Given the description of an element on the screen output the (x, y) to click on. 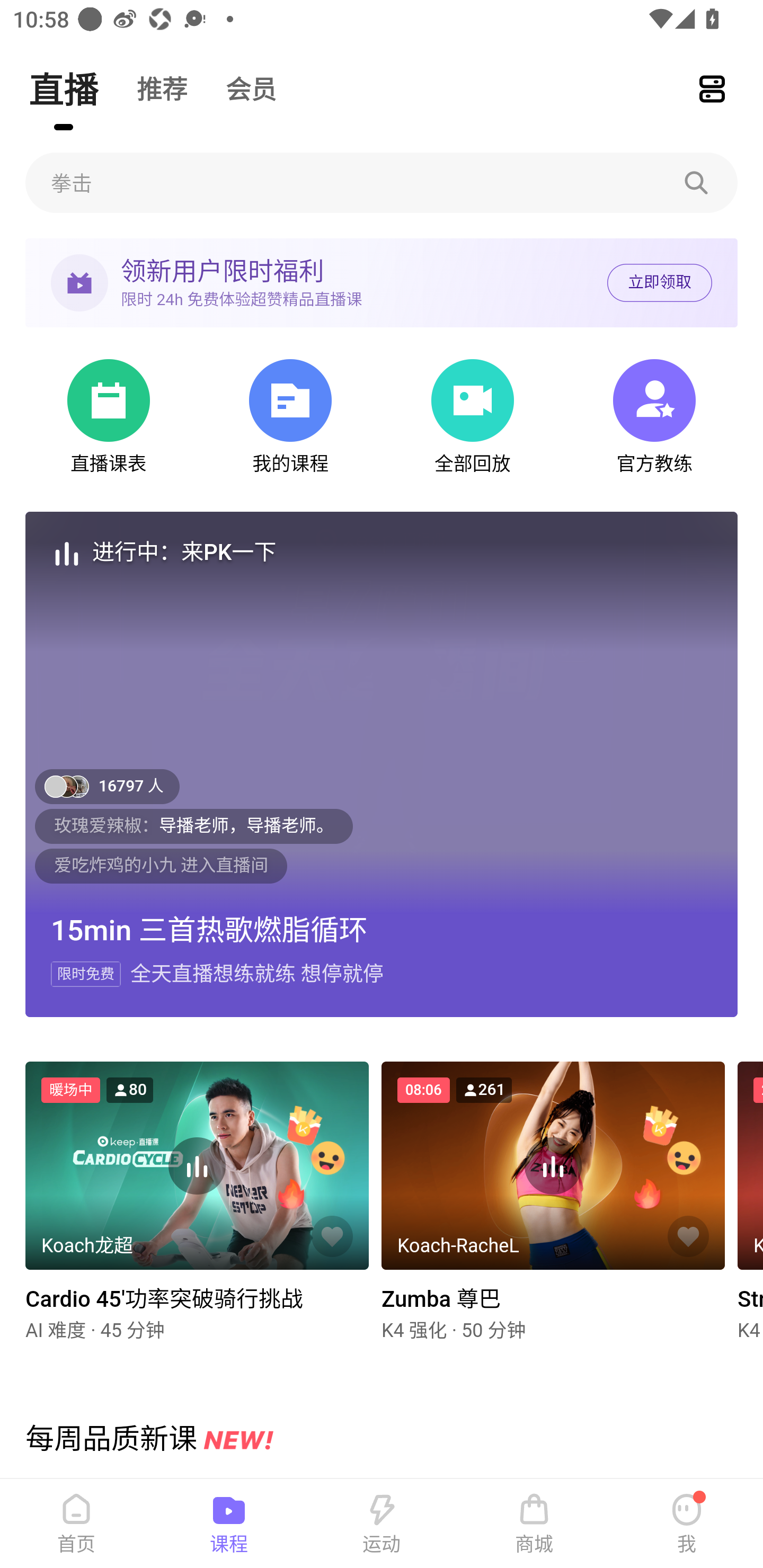
直播 (63, 88)
推荐 (161, 88)
会员 (251, 88)
拳击 (381, 182)
立即领取 (659, 282)
首页 (76, 1523)
课程 (228, 1523)
运动 (381, 1523)
商城 (533, 1523)
我 (686, 1523)
